Given the description of an element on the screen output the (x, y) to click on. 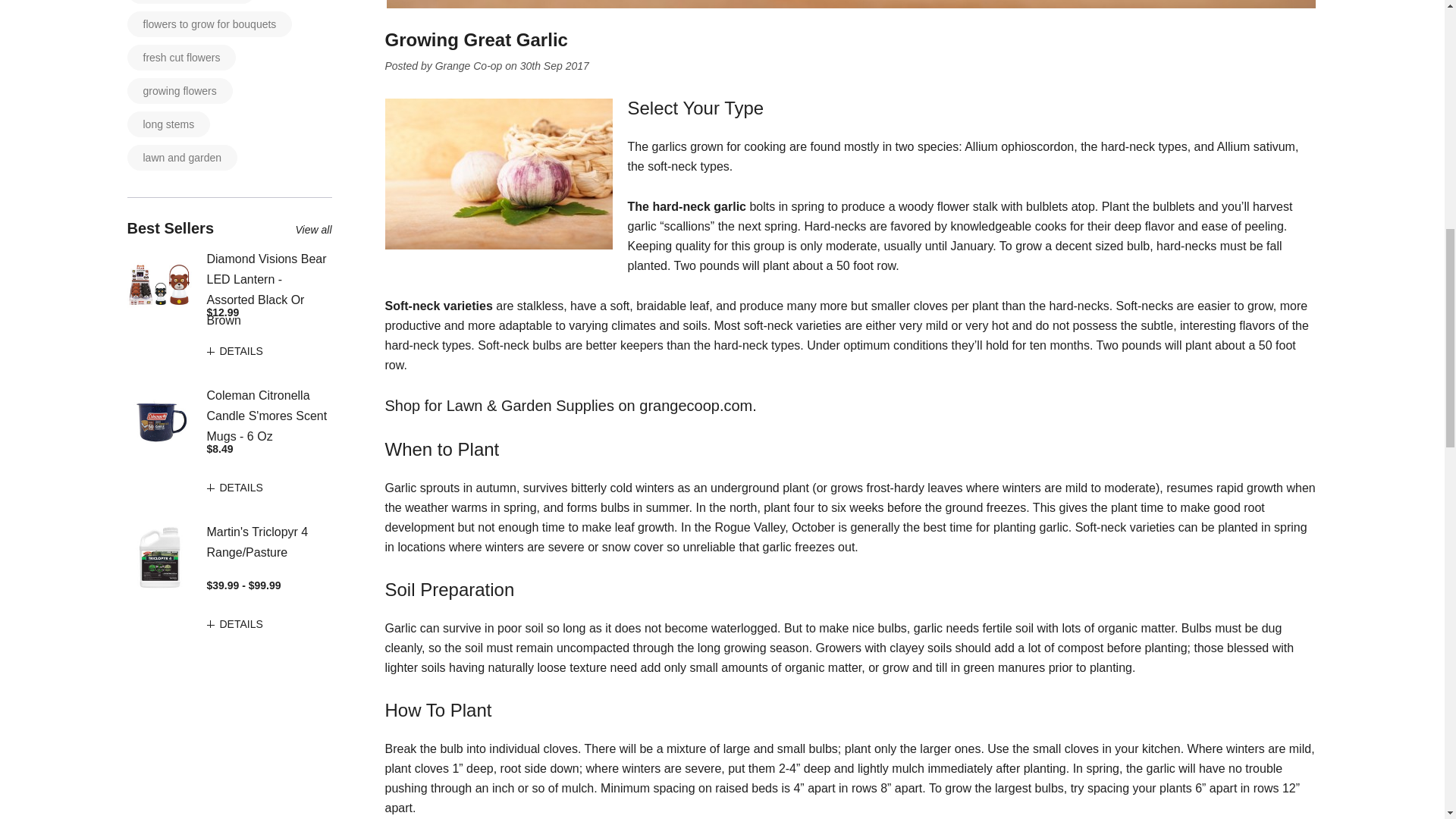
garlic (498, 173)
Diamond Visions Bear LED Lantern - Assorted Black or Brown (160, 284)
Coleman Citronella Candle S'mores Scent Mugs - 6 oz (160, 421)
